Given the description of an element on the screen output the (x, y) to click on. 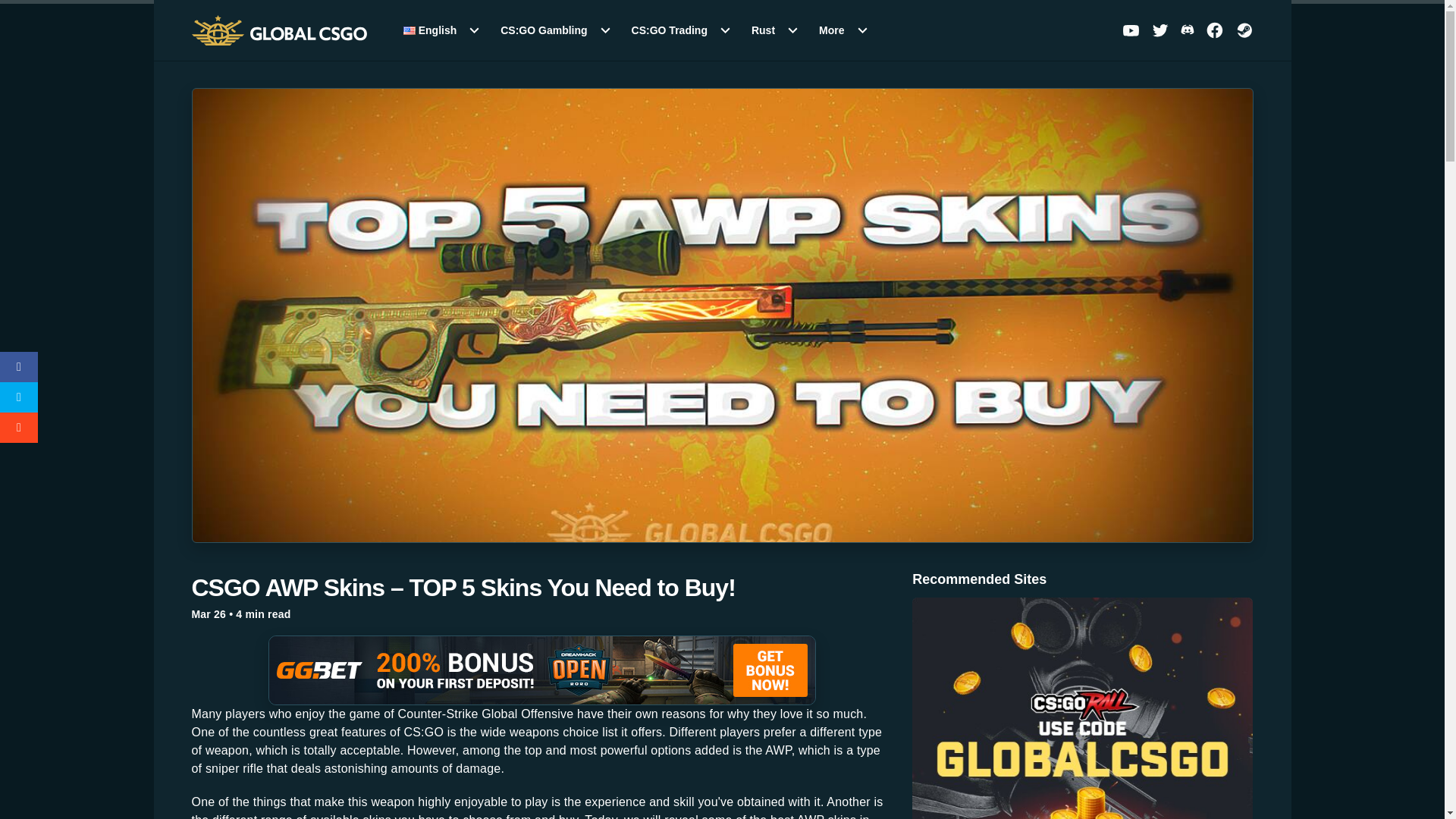
Rust (775, 29)
English (441, 29)
More (843, 29)
CS:GO Trading (681, 29)
CS:GO Gambling (555, 29)
